Given the description of an element on the screen output the (x, y) to click on. 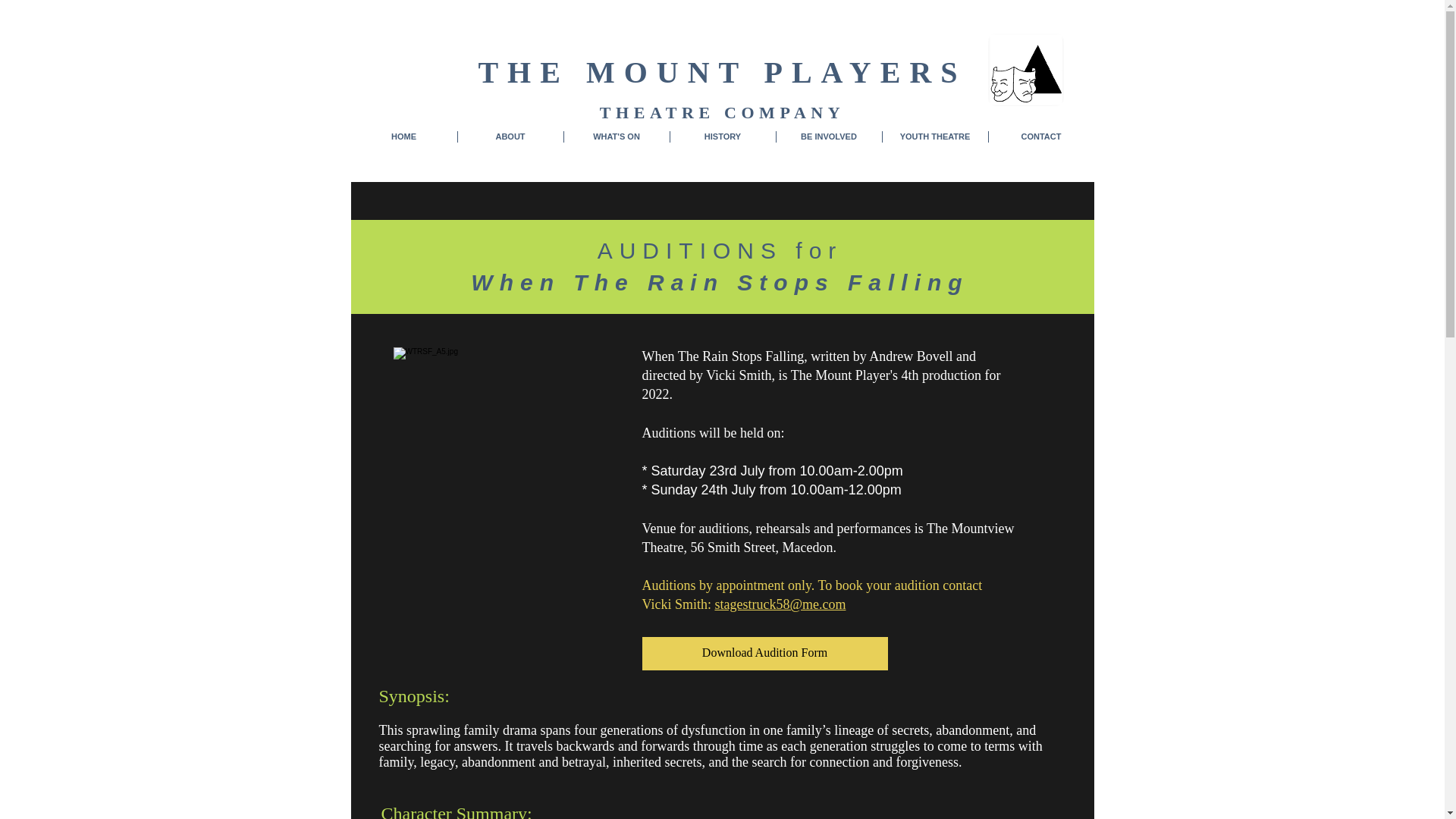
BE INVOLVED (829, 136)
YOUTH THEATRE (935, 136)
ABOUT (510, 136)
Download Audition Form (764, 653)
THE MOUNT PLAYERS (721, 72)
CONTACT (1041, 136)
HOME (403, 136)
